Given the description of an element on the screen output the (x, y) to click on. 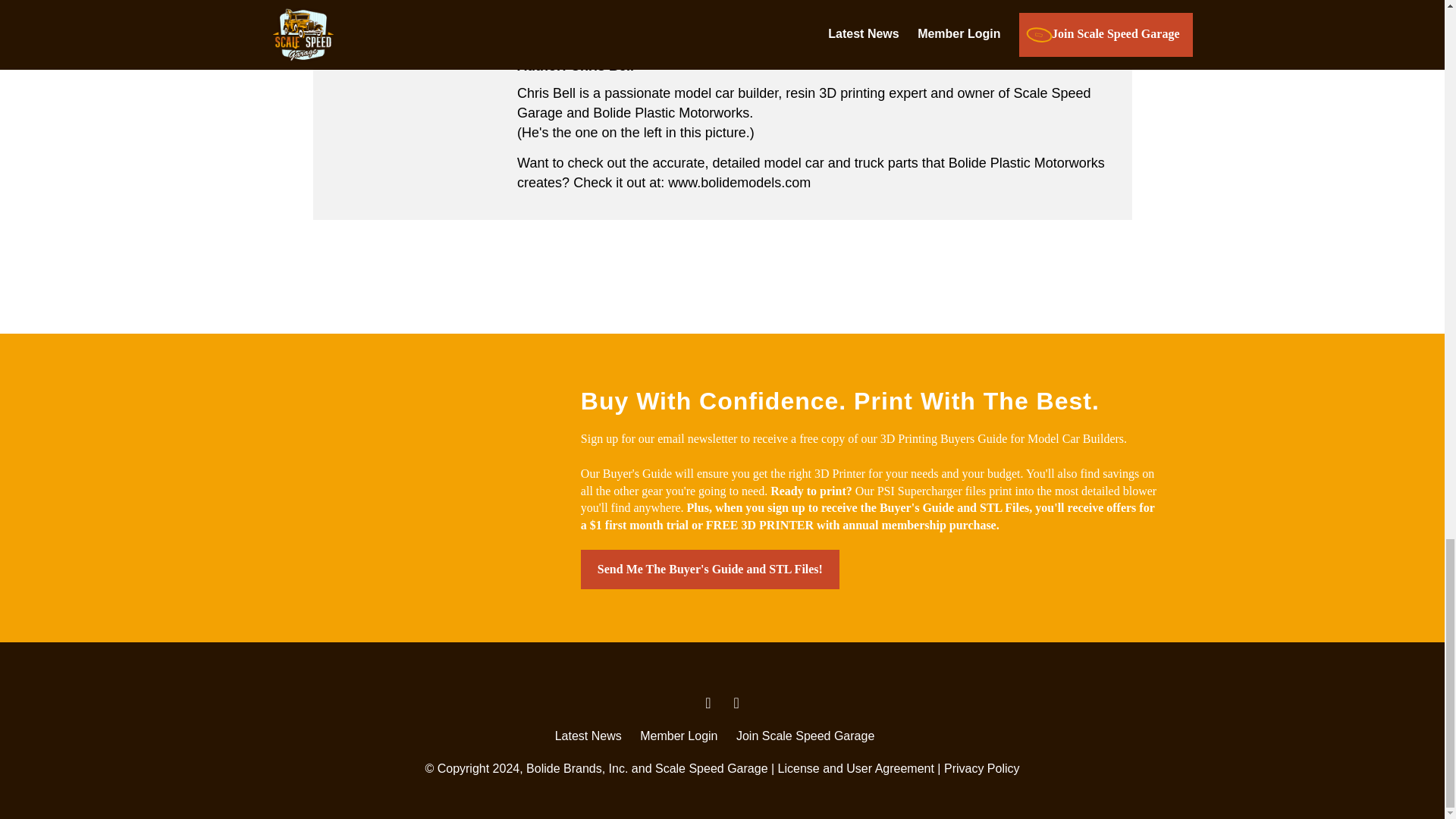
License and User Agreement (855, 768)
Privacy Policy (981, 768)
Latest News (587, 736)
Member Login (678, 736)
Send Me The Buyer's Guide and STL Files! (710, 568)
Join Scale Speed Garage (805, 736)
